Given the description of an element on the screen output the (x, y) to click on. 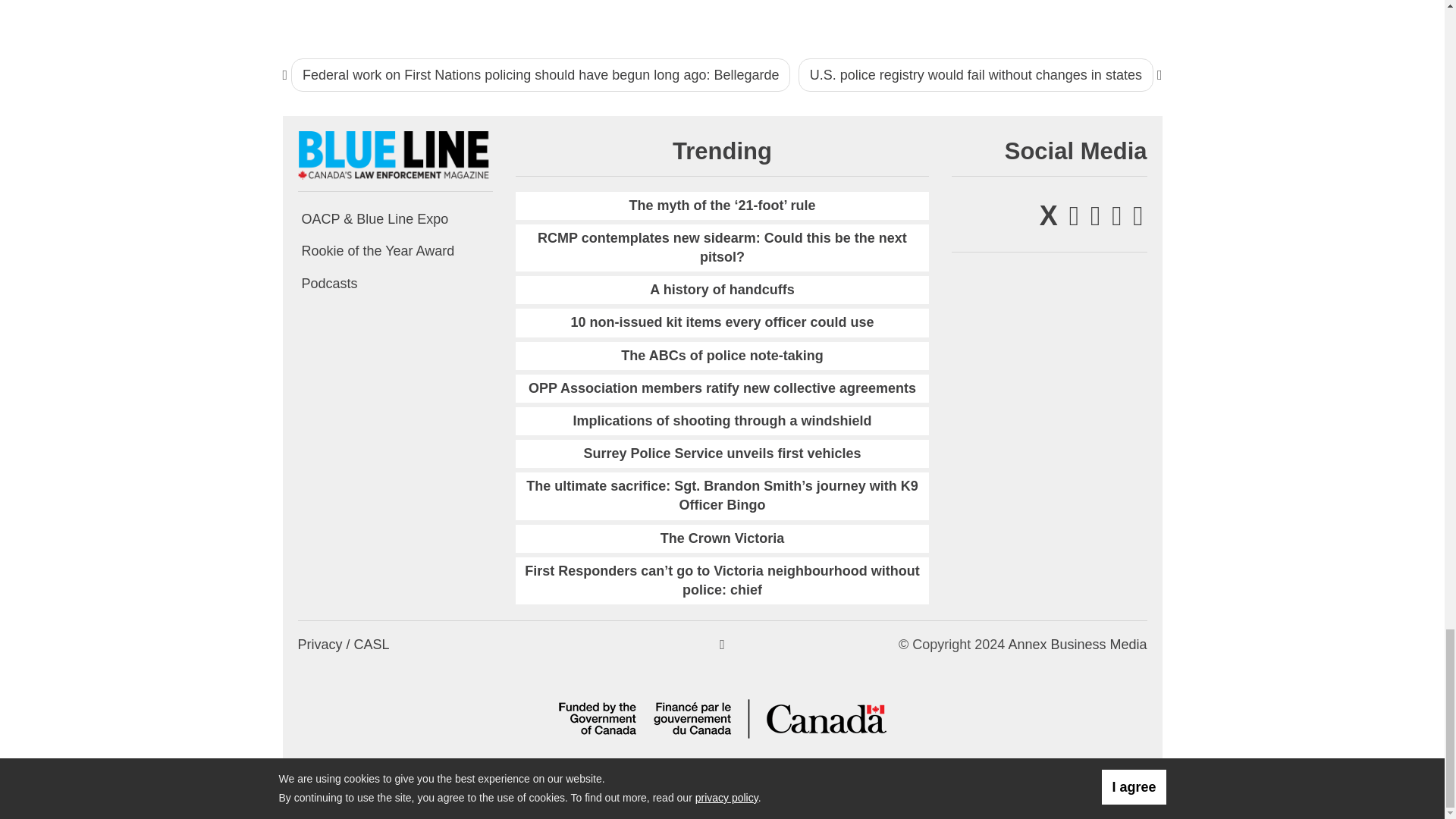
Blue Line (395, 154)
Annex Business Media (1077, 644)
